Given the description of an element on the screen output the (x, y) to click on. 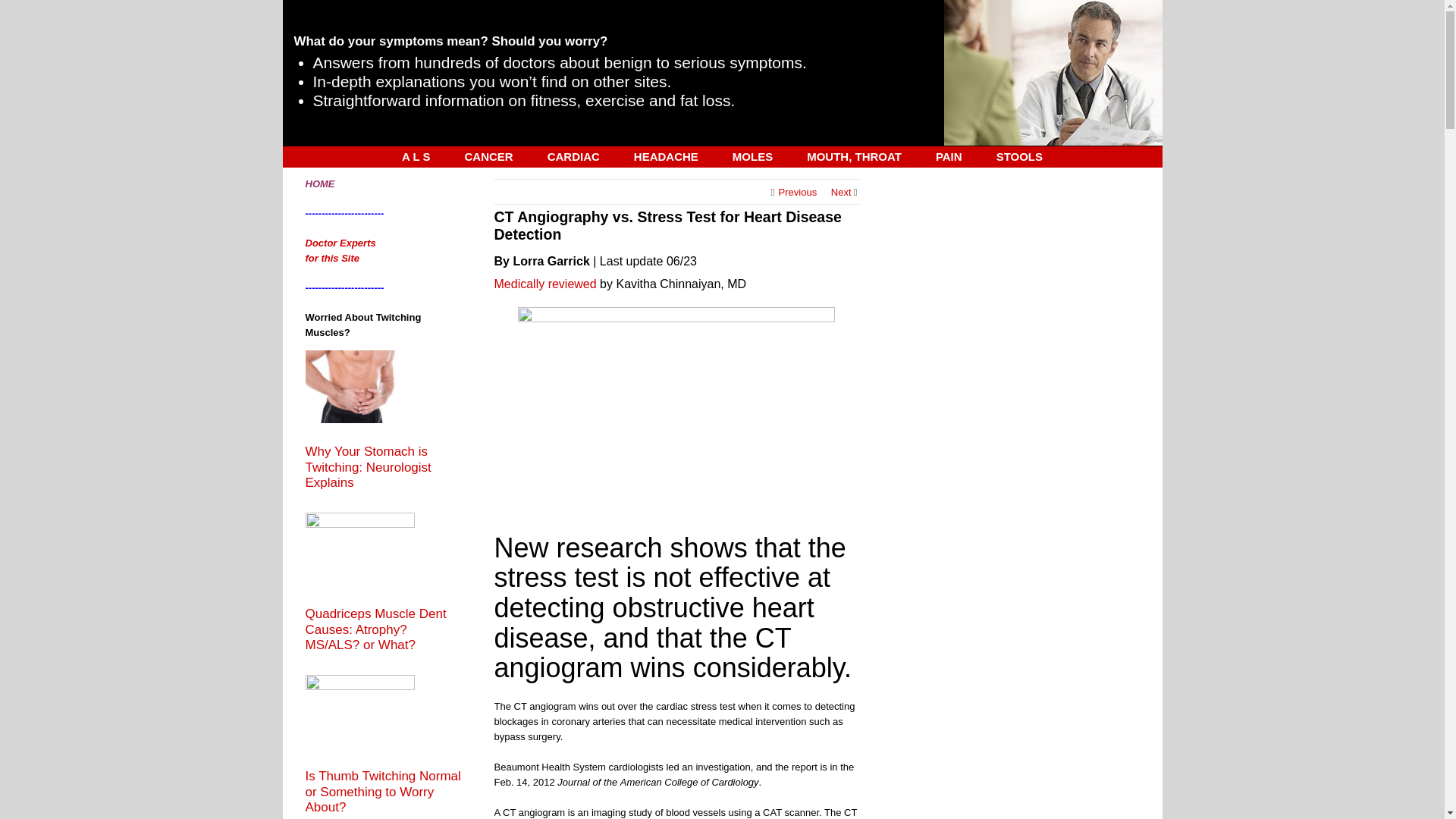
CANCER (488, 156)
A L S (415, 156)
CARDIAC (573, 156)
